Given the description of an element on the screen output the (x, y) to click on. 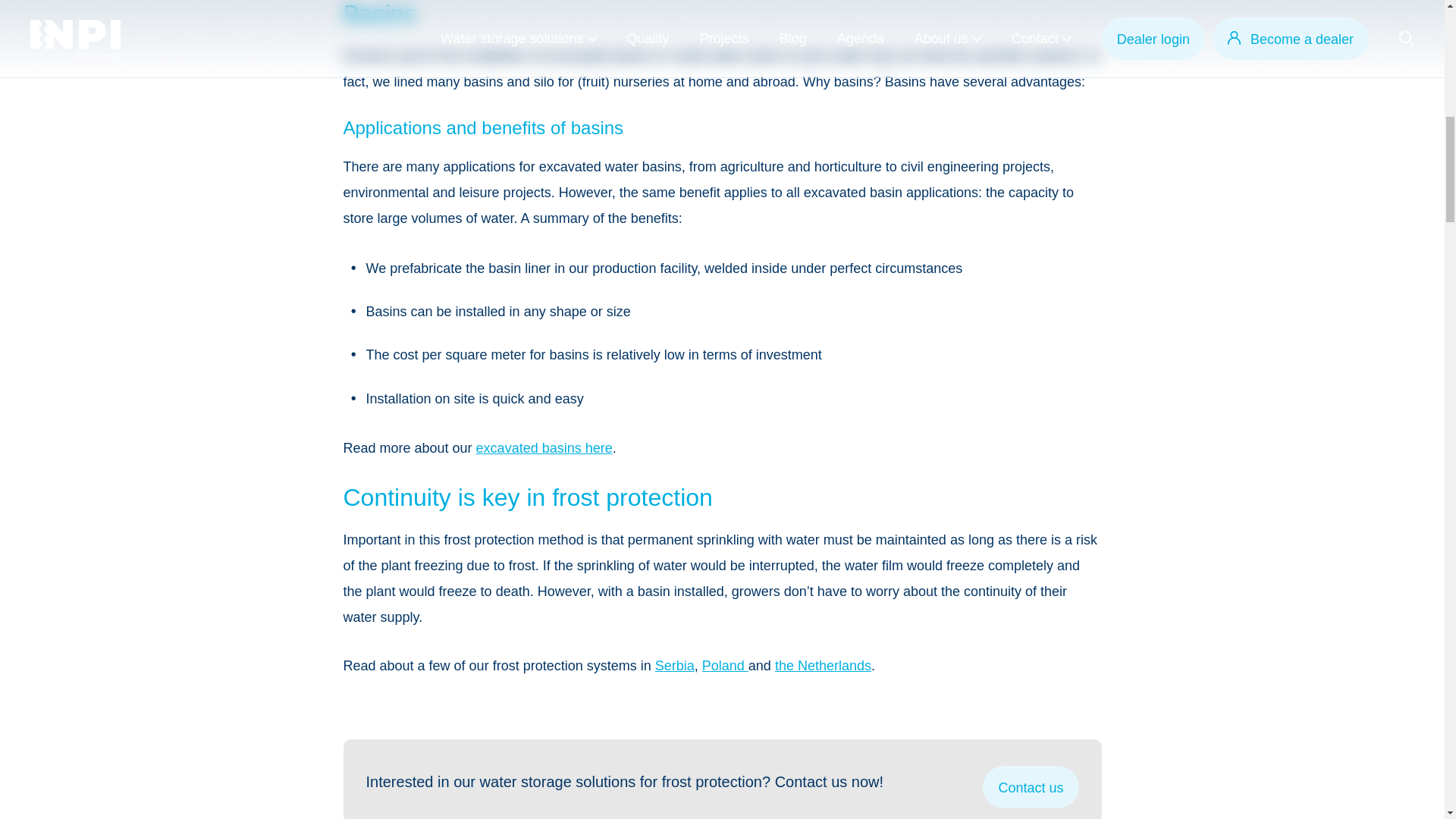
Contact us (1030, 786)
